Given the description of an element on the screen output the (x, y) to click on. 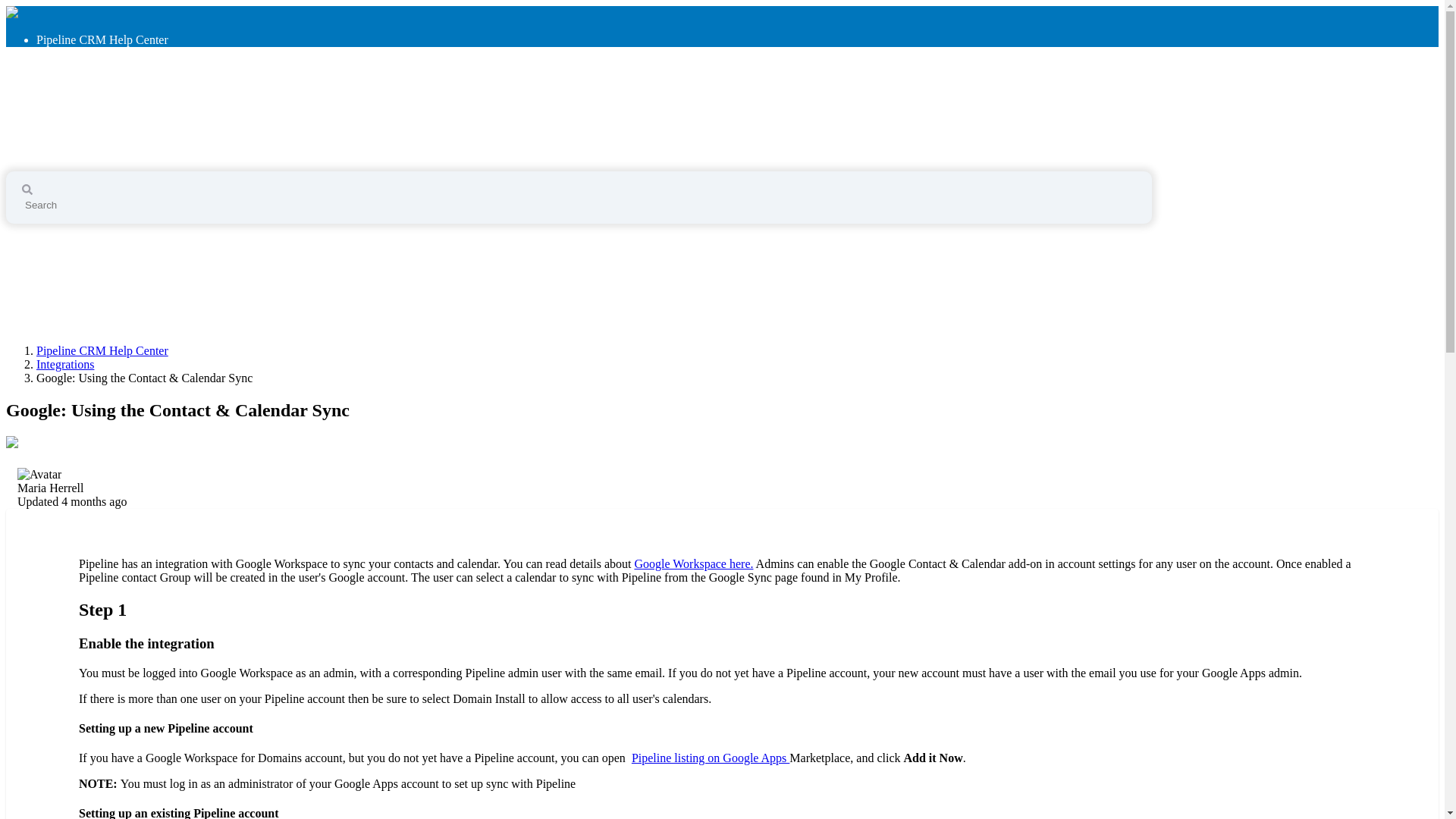
Pipeline listing on Google Apps  (710, 757)
Pipeline CRM Help Center (102, 350)
Google Workspace here. (692, 563)
Integrations (65, 364)
Pipeline CRM Help Center (128, 118)
